Given the description of an element on the screen output the (x, y) to click on. 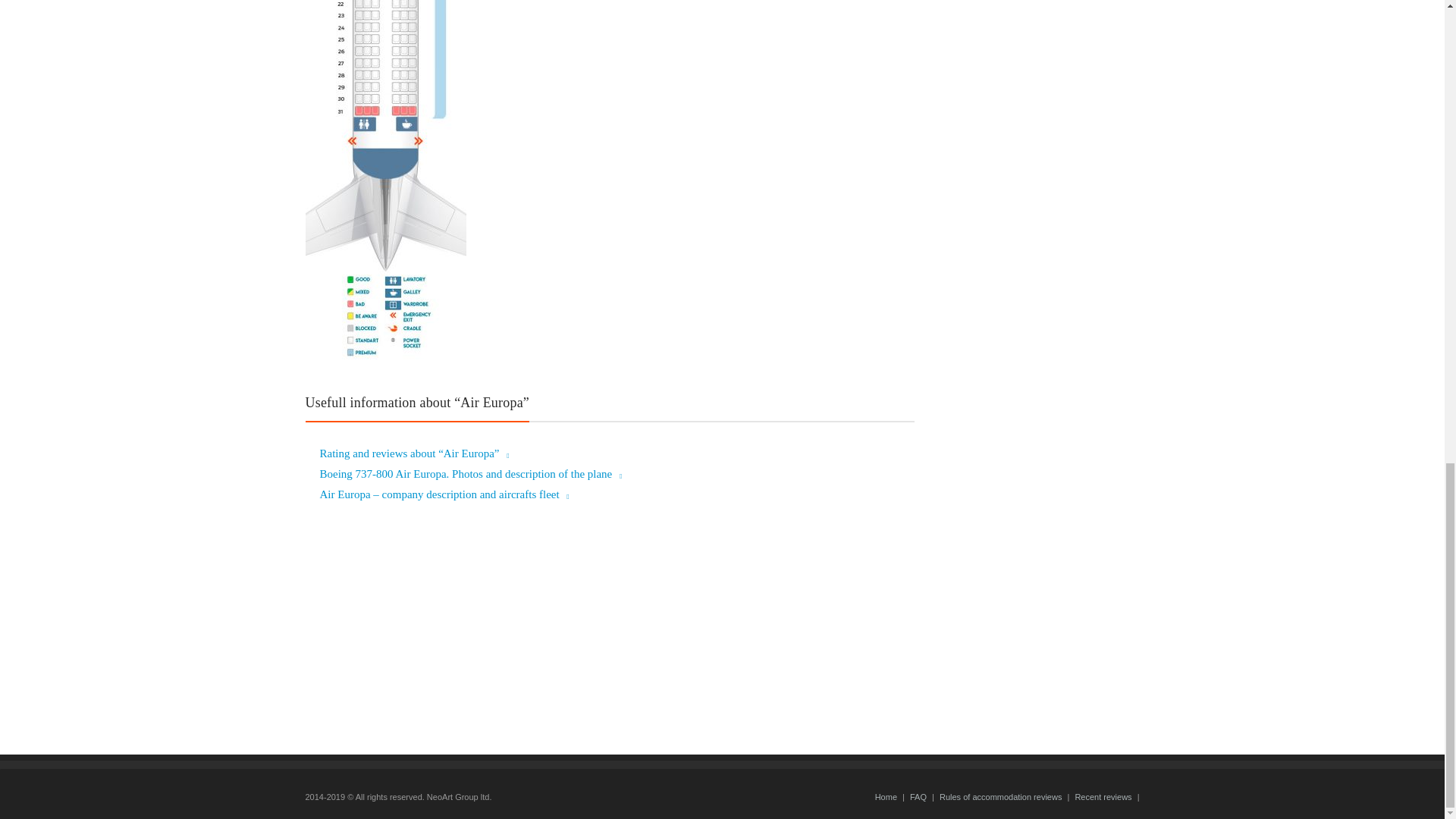
Recent reviews (1102, 796)
Home (885, 796)
FAQ (918, 796)
Rules of accommodation reviews (1000, 796)
